Given the description of an element on the screen output the (x, y) to click on. 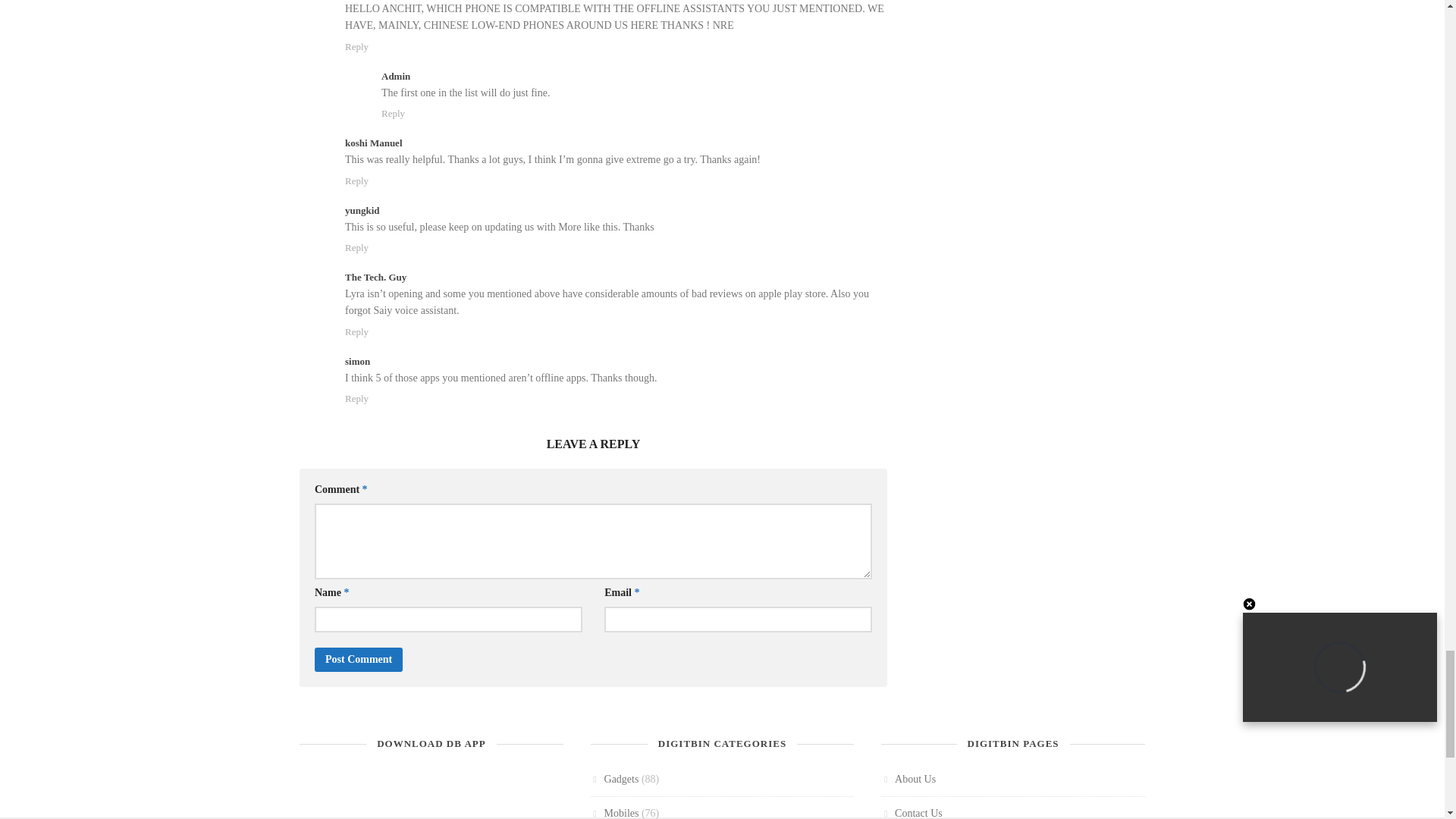
Post Comment (358, 659)
